Given the description of an element on the screen output the (x, y) to click on. 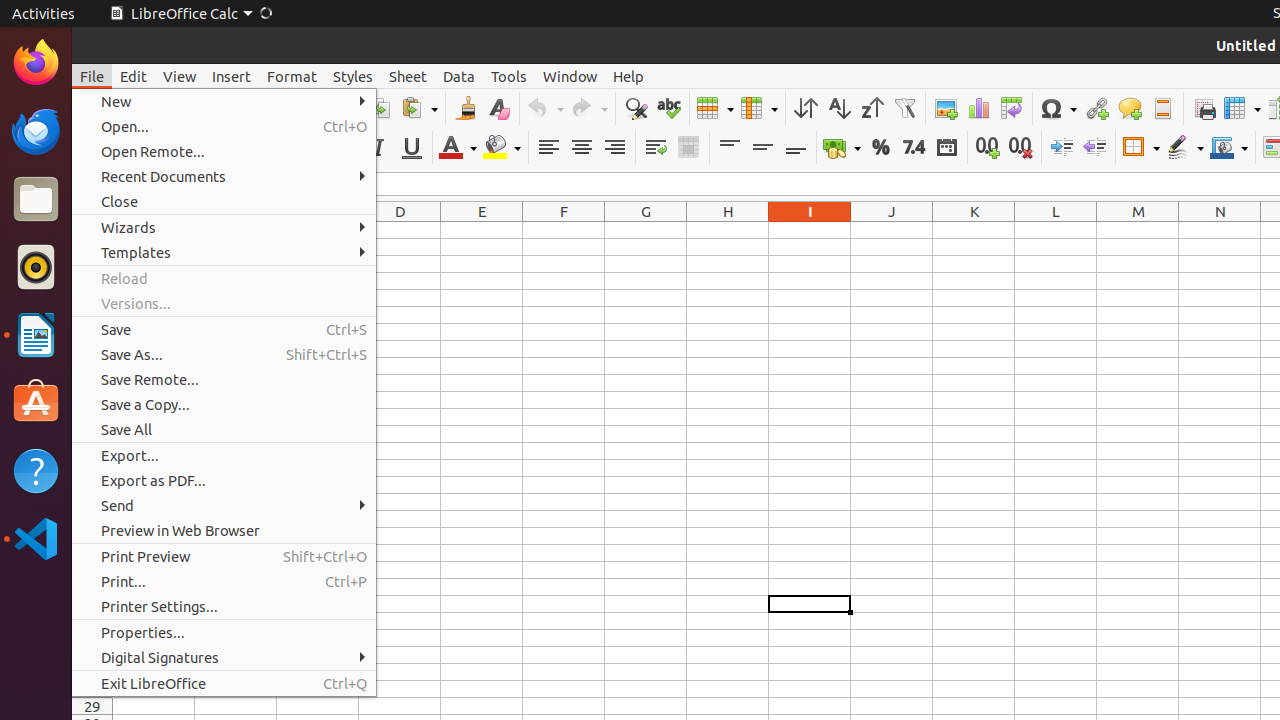
Currency Element type: push-button (842, 147)
LibreOffice Calc Element type: menu (181, 13)
Redo Element type: push-button (589, 108)
New Element type: menu (224, 101)
Properties... Element type: menu-item (224, 632)
